Given the description of an element on the screen output the (x, y) to click on. 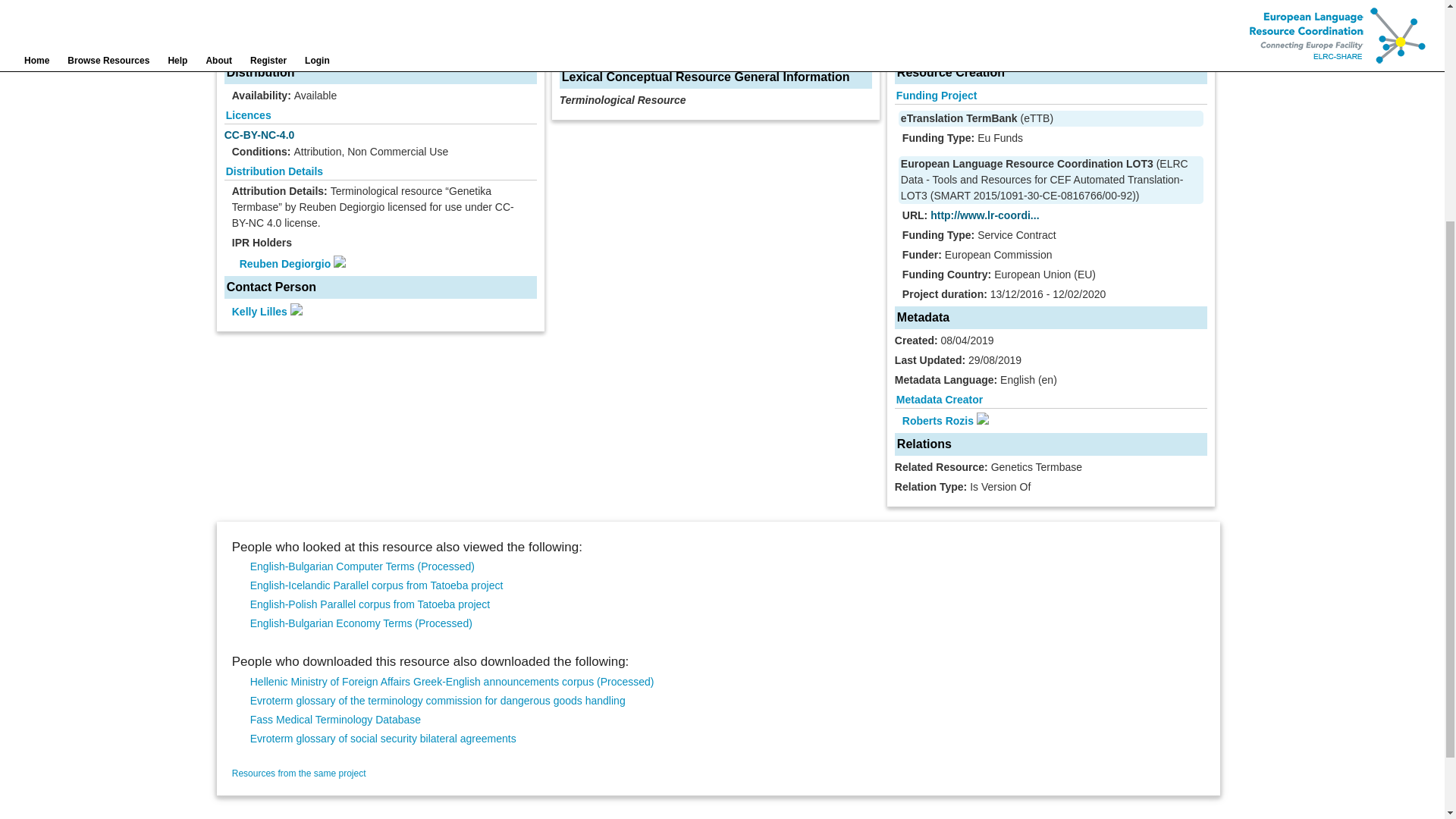
Download (310, 1)
CC-BY-NC-4.0 (259, 134)
text (709, 48)
Lexical Conceptual (610, 48)
English-Icelandic Parallel corpus from Tatoeba project (376, 585)
English-Polish Parallel corpus from Tatoeba project (369, 604)
Fass Medical Terminology Database (335, 719)
text (698, 48)
Back (250, 1)
